Given the description of an element on the screen output the (x, y) to click on. 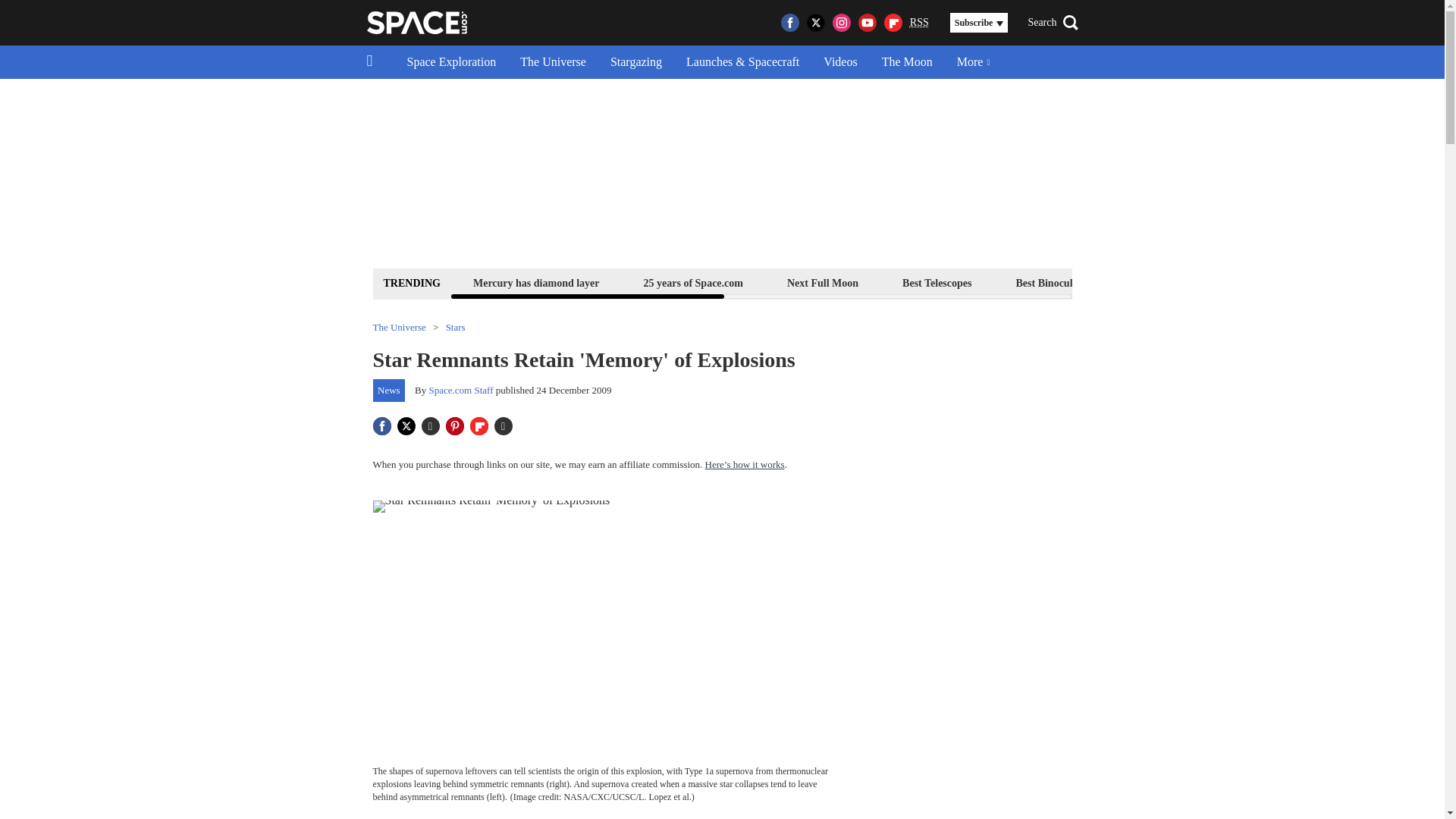
Space Calendar (1301, 282)
Space Exploration (451, 61)
Best Telescopes (936, 282)
The Moon (906, 61)
Best Star Projectors (1176, 282)
Really Simple Syndication (919, 21)
Videos (839, 61)
Stargazing (636, 61)
Next Full Moon (822, 282)
RSS (919, 22)
Mercury has diamond layer (536, 282)
The Universe (553, 61)
25 years of Space.com (693, 282)
Best Binoculars (1051, 282)
